Given the description of an element on the screen output the (x, y) to click on. 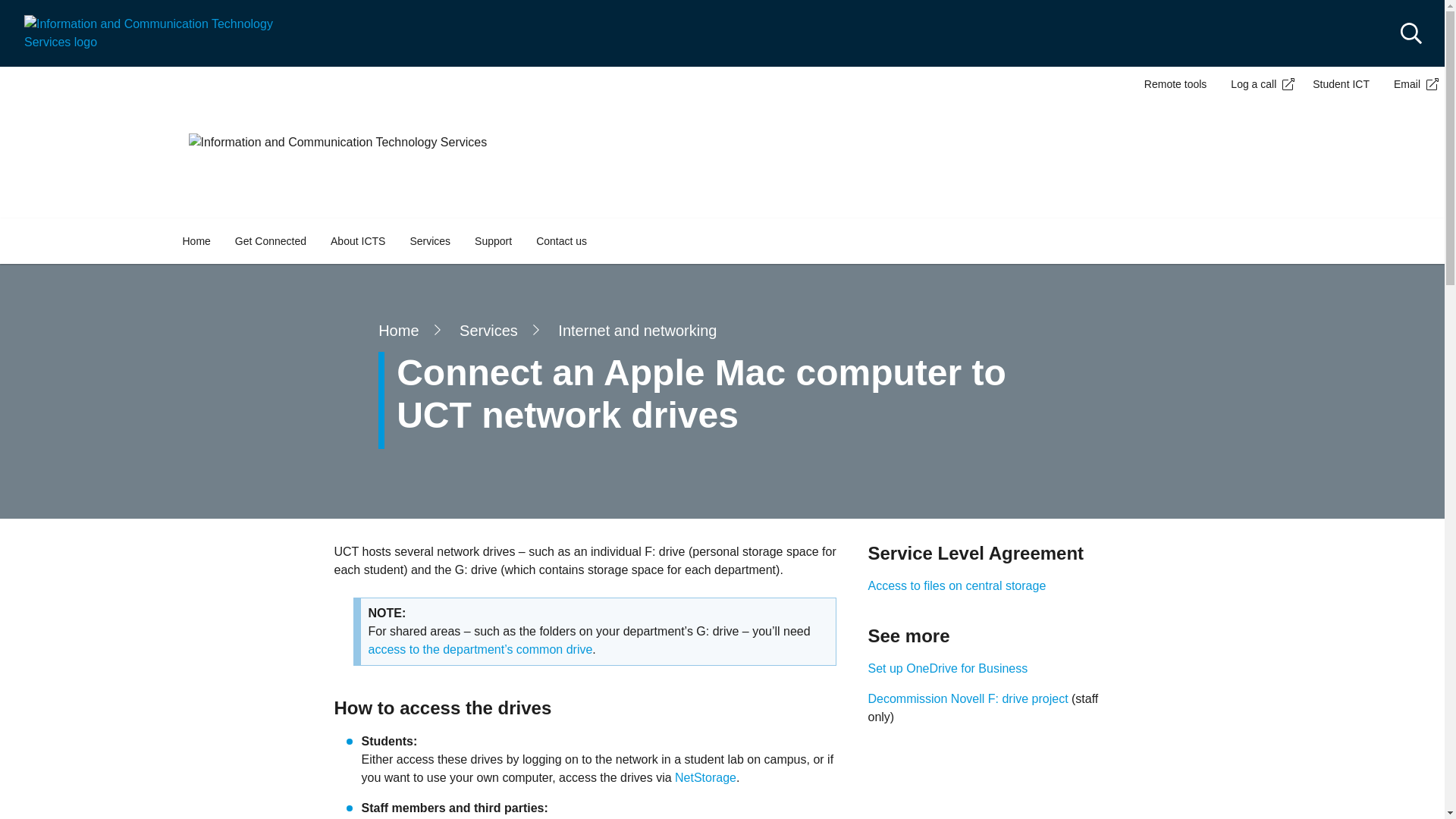
Get Connected (270, 240)
Home (196, 240)
Remote tools (1175, 83)
Submit (32, 15)
Log a call (1259, 83)
About ICTS (357, 240)
Student ICT (1340, 83)
Home (160, 31)
